Given the description of an element on the screen output the (x, y) to click on. 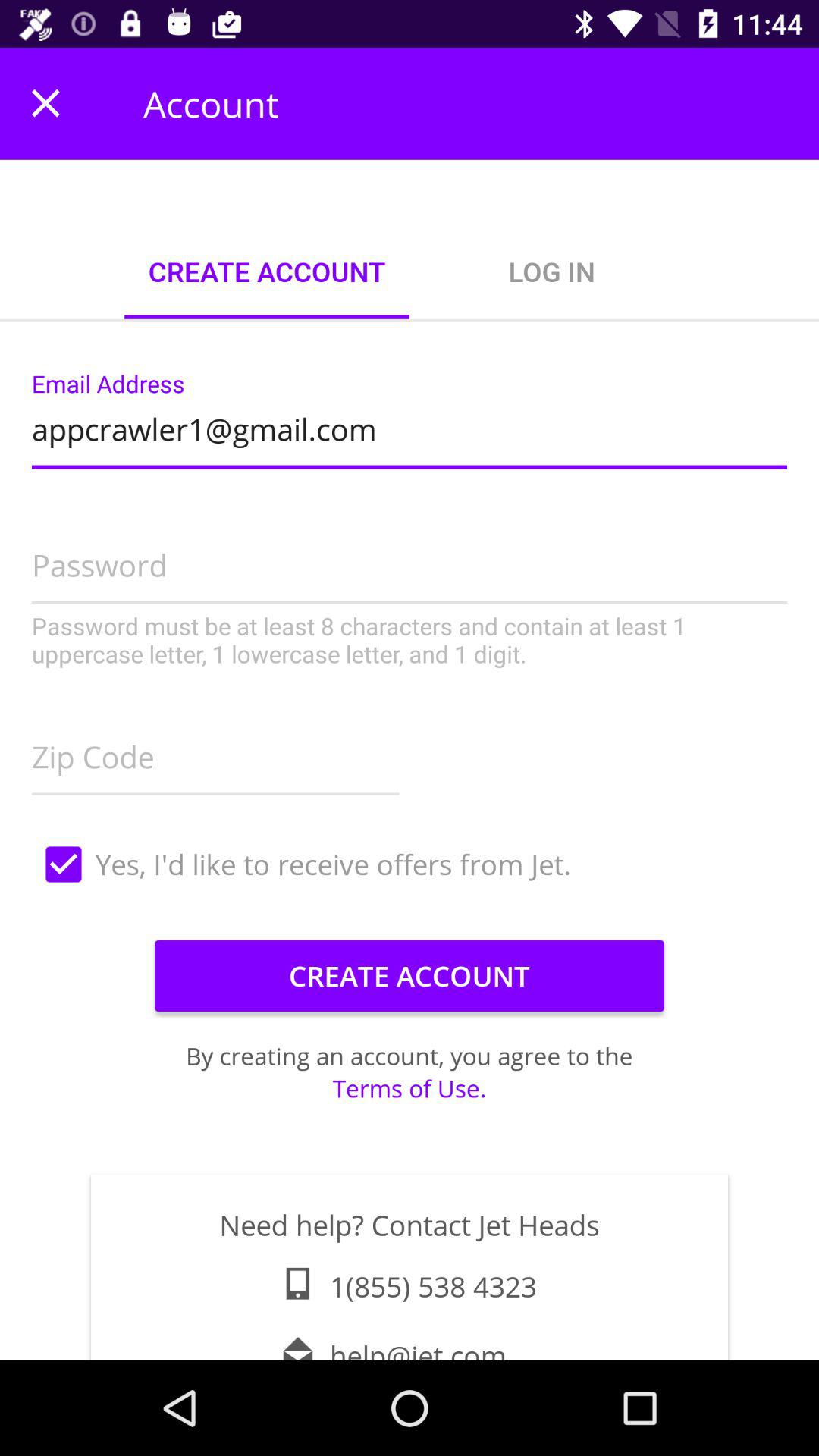
jump to the appcrawler1@gmail.com icon (409, 425)
